Given the description of an element on the screen output the (x, y) to click on. 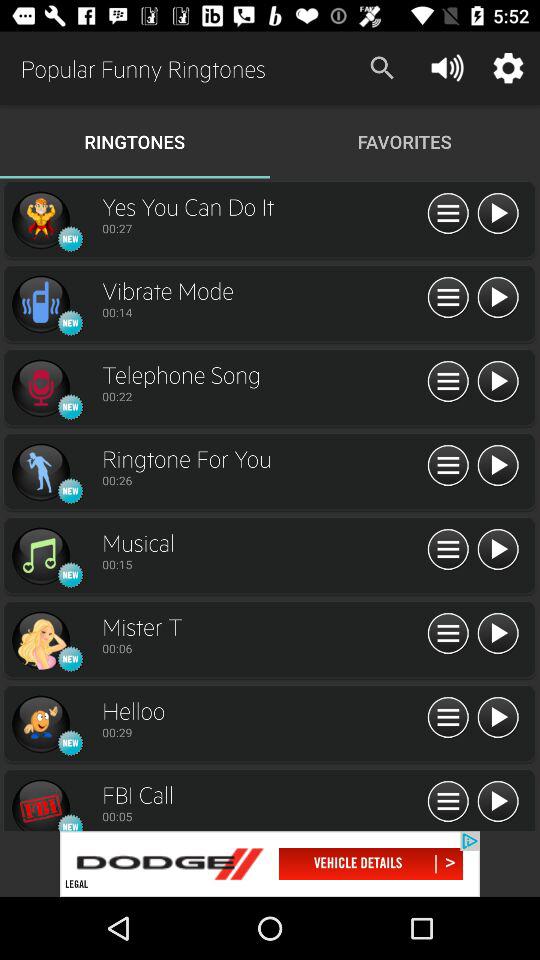
ringtone play button (497, 717)
